Given the description of an element on the screen output the (x, y) to click on. 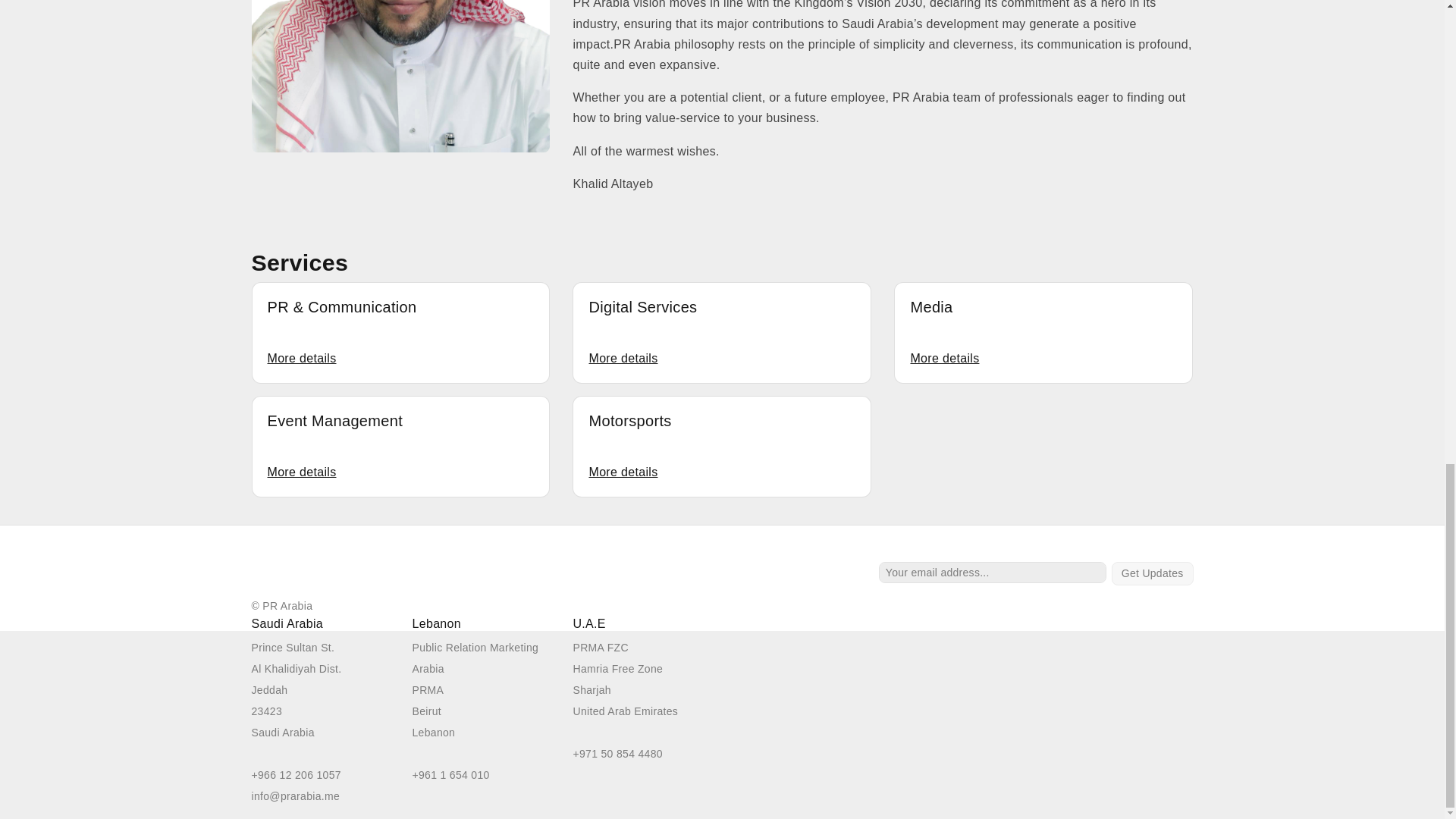
More details (944, 358)
More details (623, 358)
Get Updates (1152, 573)
More details (301, 358)
More details (623, 472)
More details (301, 472)
